Given the description of an element on the screen output the (x, y) to click on. 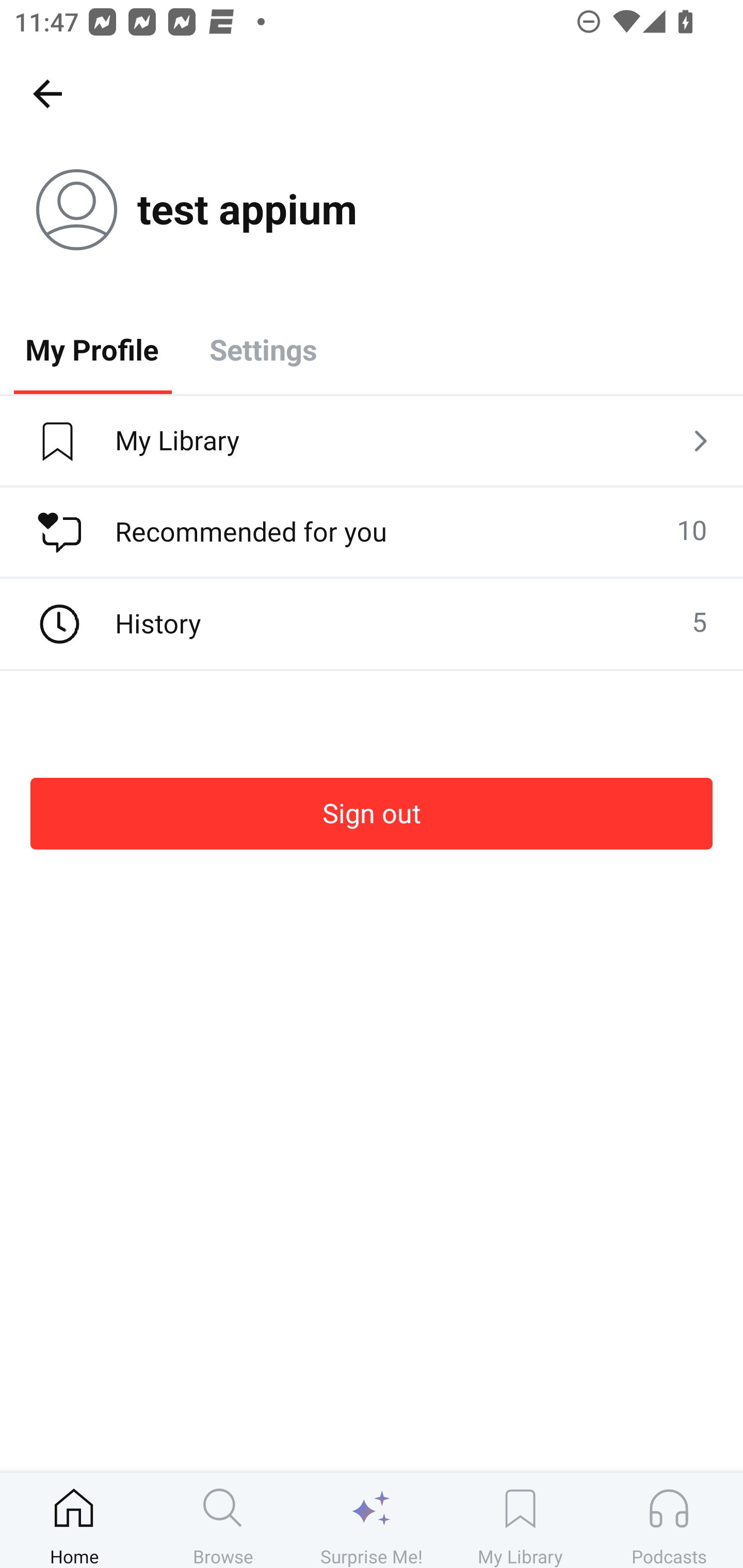
Home, back (47, 92)
My Profile (92, 348)
Settings (263, 348)
My Library (371, 441)
Recommended for you 10 (371, 532)
History 5 (371, 623)
Sign out (371, 813)
Home (74, 1520)
Browse (222, 1520)
Surprise Me! (371, 1520)
My Library (519, 1520)
Podcasts (668, 1520)
